Given the description of an element on the screen output the (x, y) to click on. 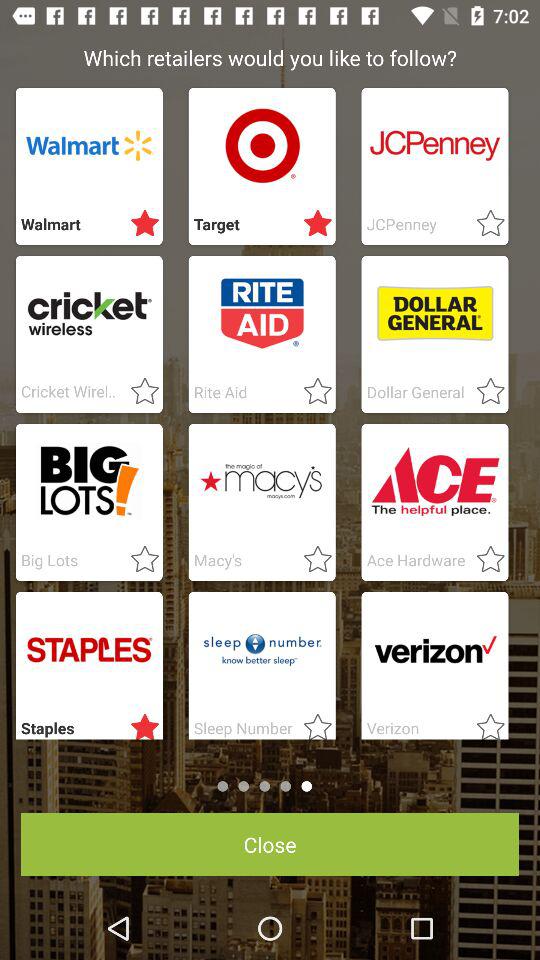
add to favorites (484, 392)
